Given the description of an element on the screen output the (x, y) to click on. 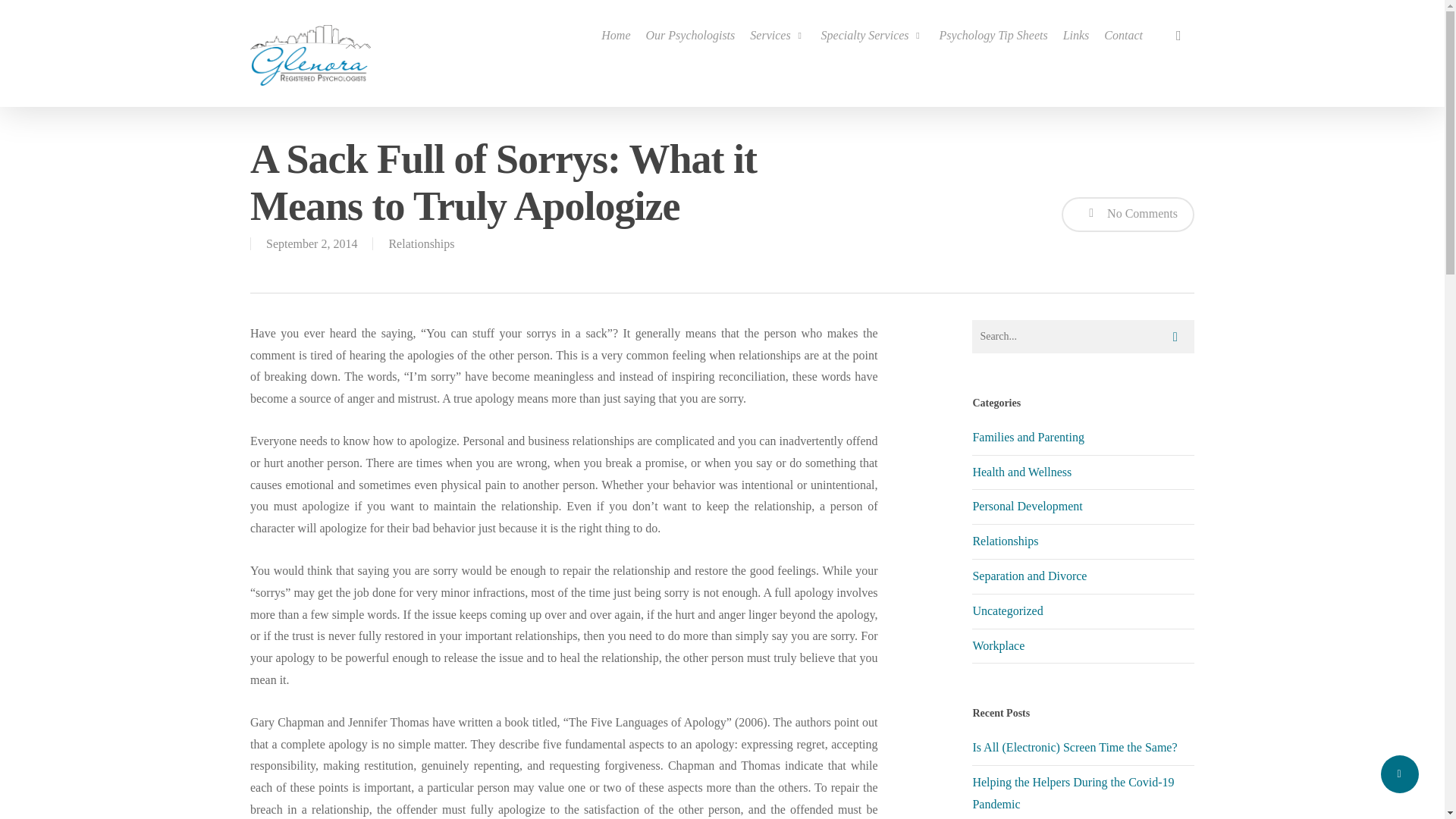
Personal Development (1082, 506)
Our Psychologists (690, 35)
Psychology Tip Sheets (993, 35)
No Comments (1127, 214)
Separation and Divorce (1082, 576)
Relationships (1082, 541)
Uncategorized (1082, 611)
Services (777, 35)
Families and Parenting (1082, 440)
Specialty Services (872, 35)
Health and Wellness (1082, 472)
Home (615, 35)
Search for: (1082, 336)
Links (1075, 35)
Helping the Helpers During the Covid-19 Pandemic (1072, 792)
